Given the description of an element on the screen output the (x, y) to click on. 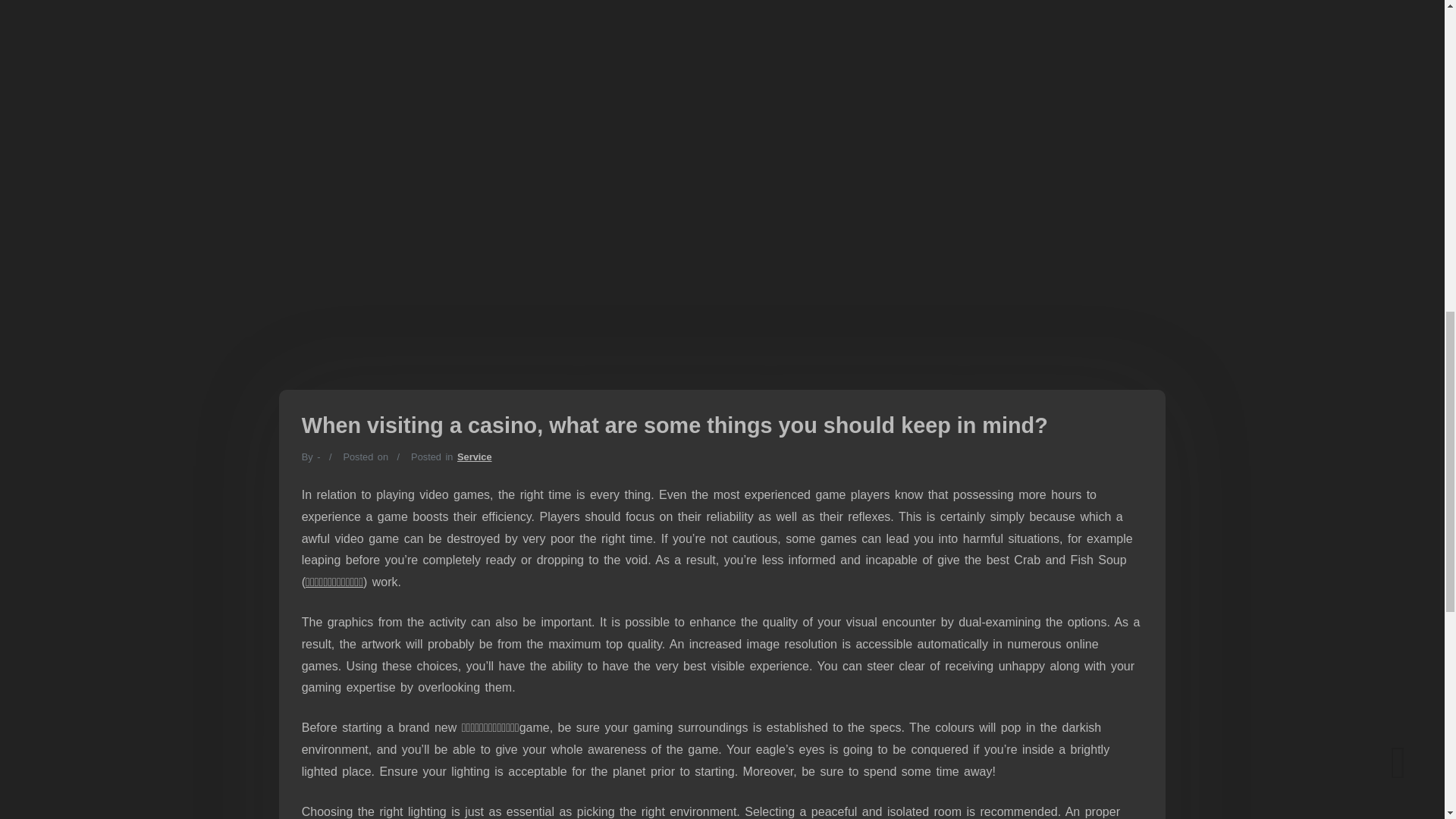
Service (474, 456)
